Given the description of an element on the screen output the (x, y) to click on. 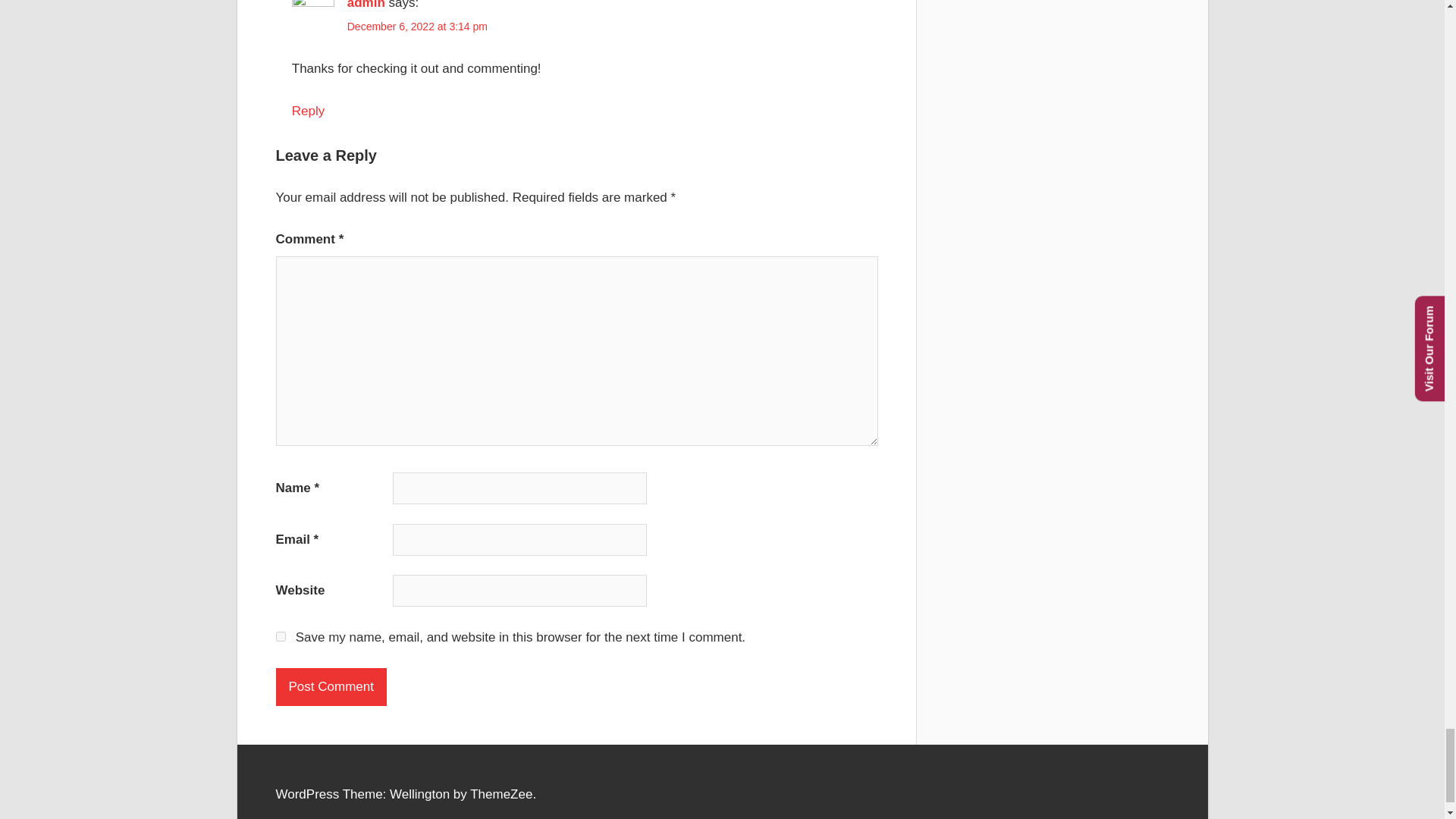
December 6, 2022 at 3:14 pm (417, 26)
yes (280, 636)
admin (366, 4)
Post Comment (331, 686)
